Given the description of an element on the screen output the (x, y) to click on. 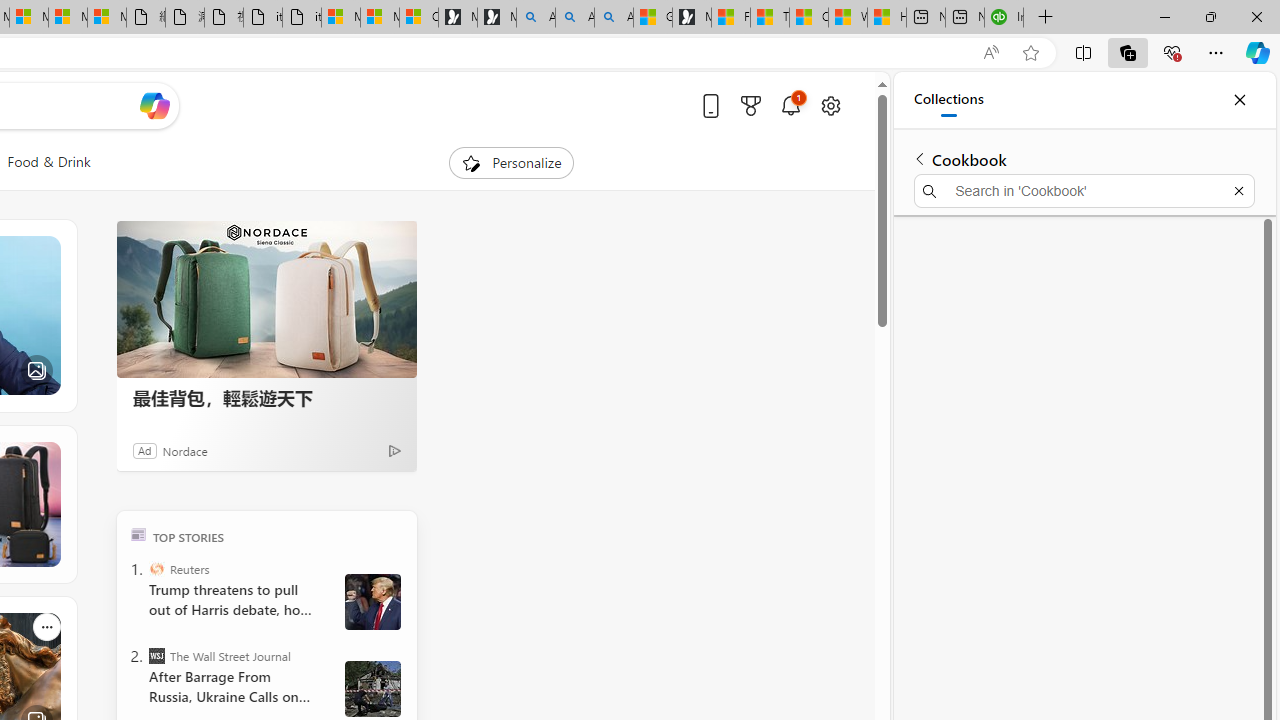
Alabama high school quarterback dies - Search (536, 17)
Open Copilot (155, 105)
CNN - MSN (808, 17)
Microsoft Start Gaming (691, 17)
Open Copilot (155, 105)
Microsoft account | Privacy (380, 17)
Close (1239, 99)
Settings and more (Alt+F) (1215, 52)
Split screen (1083, 52)
Ad Choice (394, 449)
Personalize (511, 162)
